Given the description of an element on the screen output the (x, y) to click on. 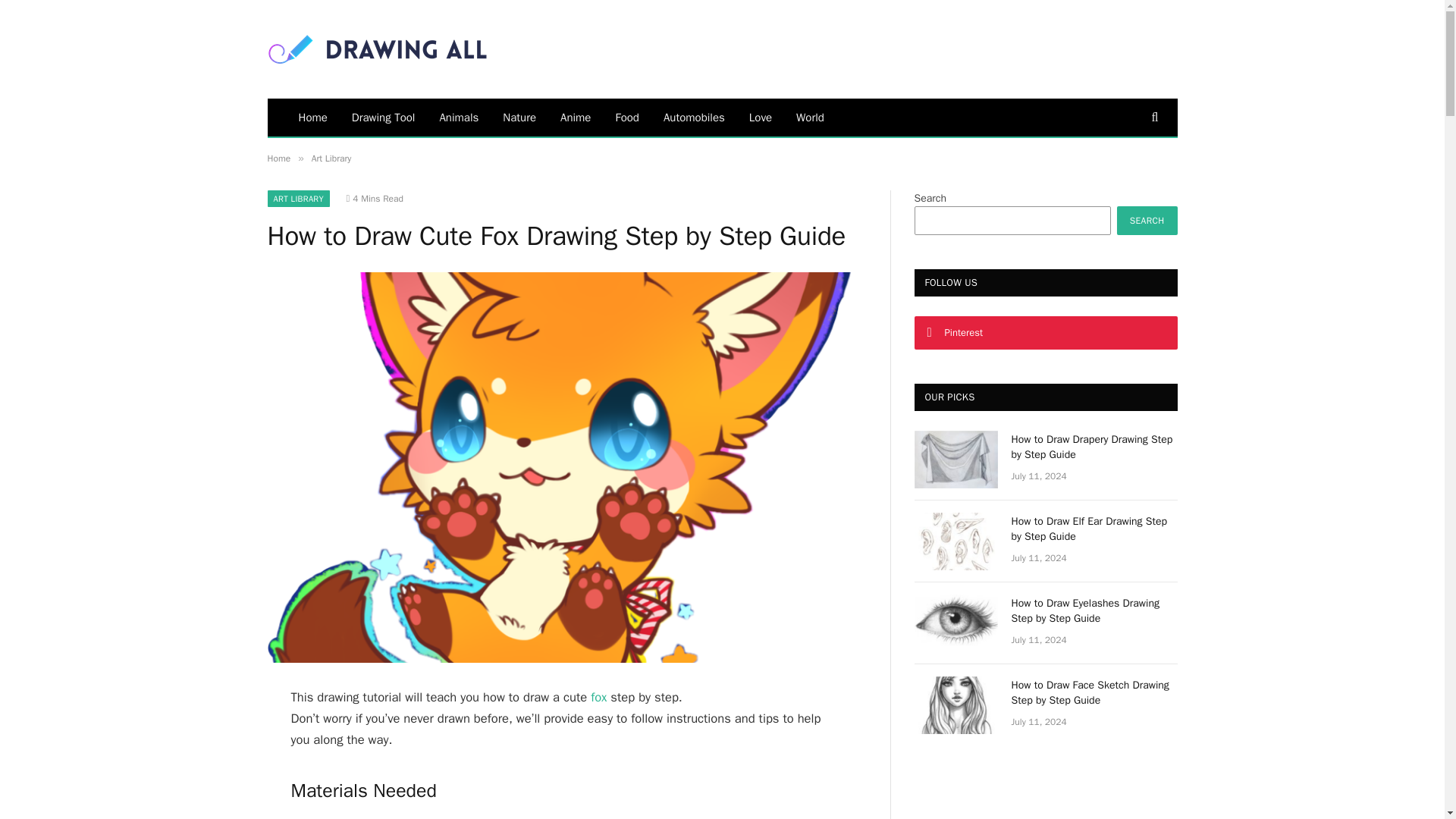
Drawing All (376, 48)
Art Library (331, 158)
World (809, 117)
Nature (519, 117)
Drawing Tool (383, 117)
Automobiles (693, 117)
Anime (575, 117)
Home (312, 117)
ART LIBRARY (298, 198)
fox (599, 697)
Love (760, 117)
Food (626, 117)
Home (277, 158)
Animals (458, 117)
